Given the description of an element on the screen output the (x, y) to click on. 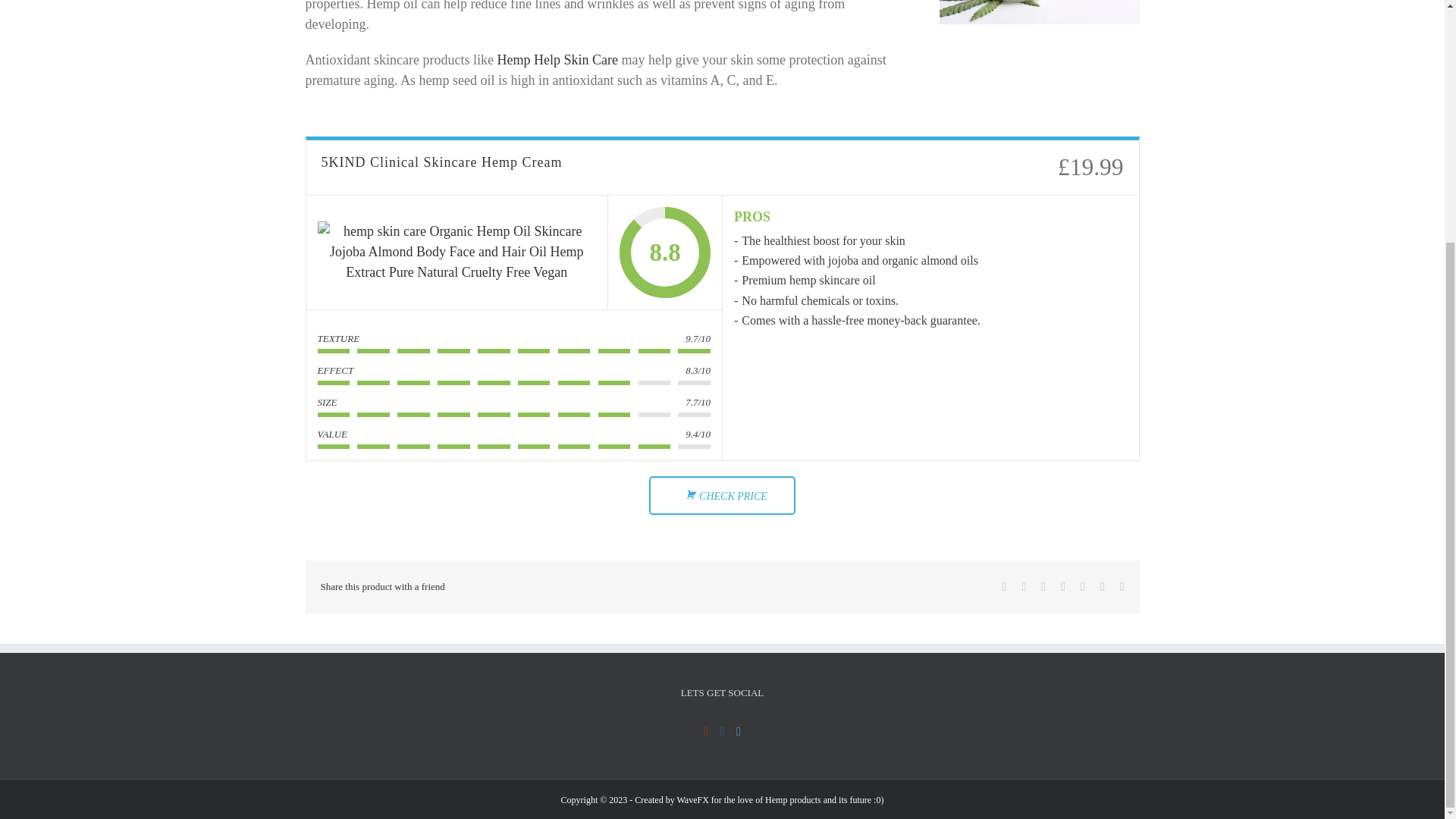
5KIND Clinical Skincare Hemp Cream (456, 251)
